Given the description of an element on the screen output the (x, y) to click on. 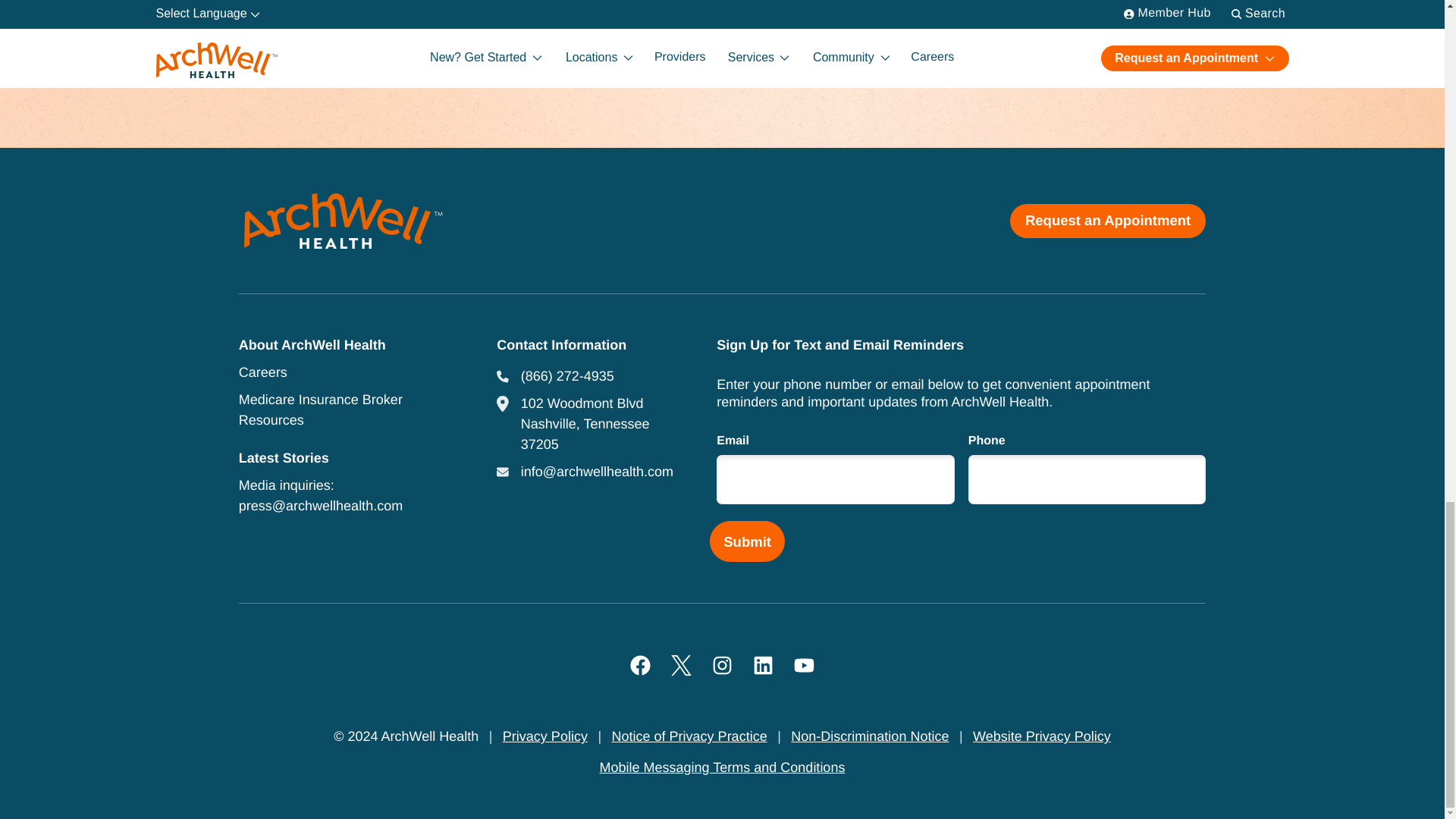
ArchWell Health Home page (343, 220)
